Given the description of an element on the screen output the (x, y) to click on. 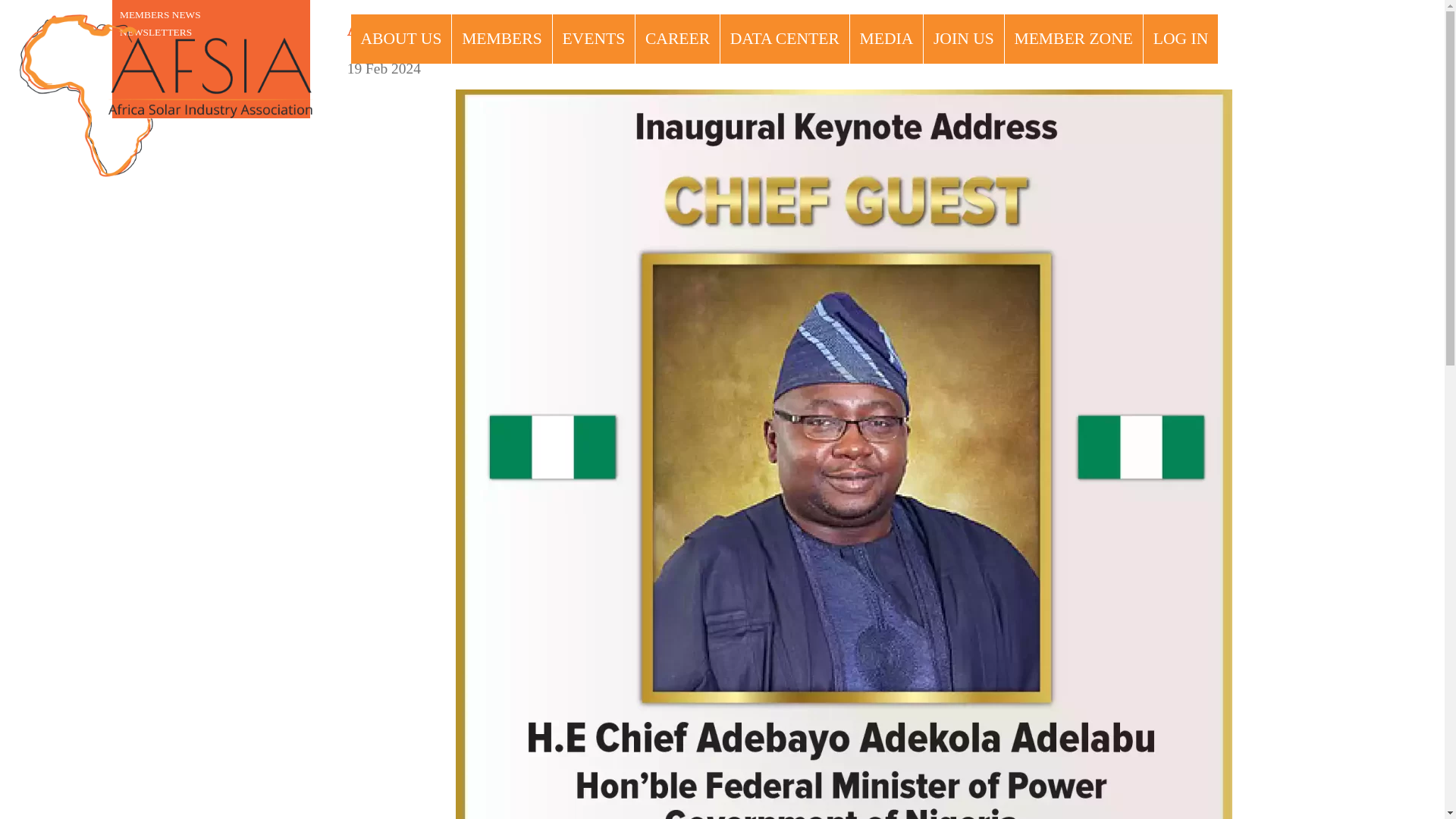
MEMBERS (501, 39)
CAREER (677, 39)
MEMBER ZONE (1072, 39)
MEDIA (885, 39)
DATA CENTER (785, 39)
EVENTS (593, 39)
LOG IN (1180, 39)
JOIN US (963, 39)
ABOUT US (400, 39)
